Given the description of an element on the screen output the (x, y) to click on. 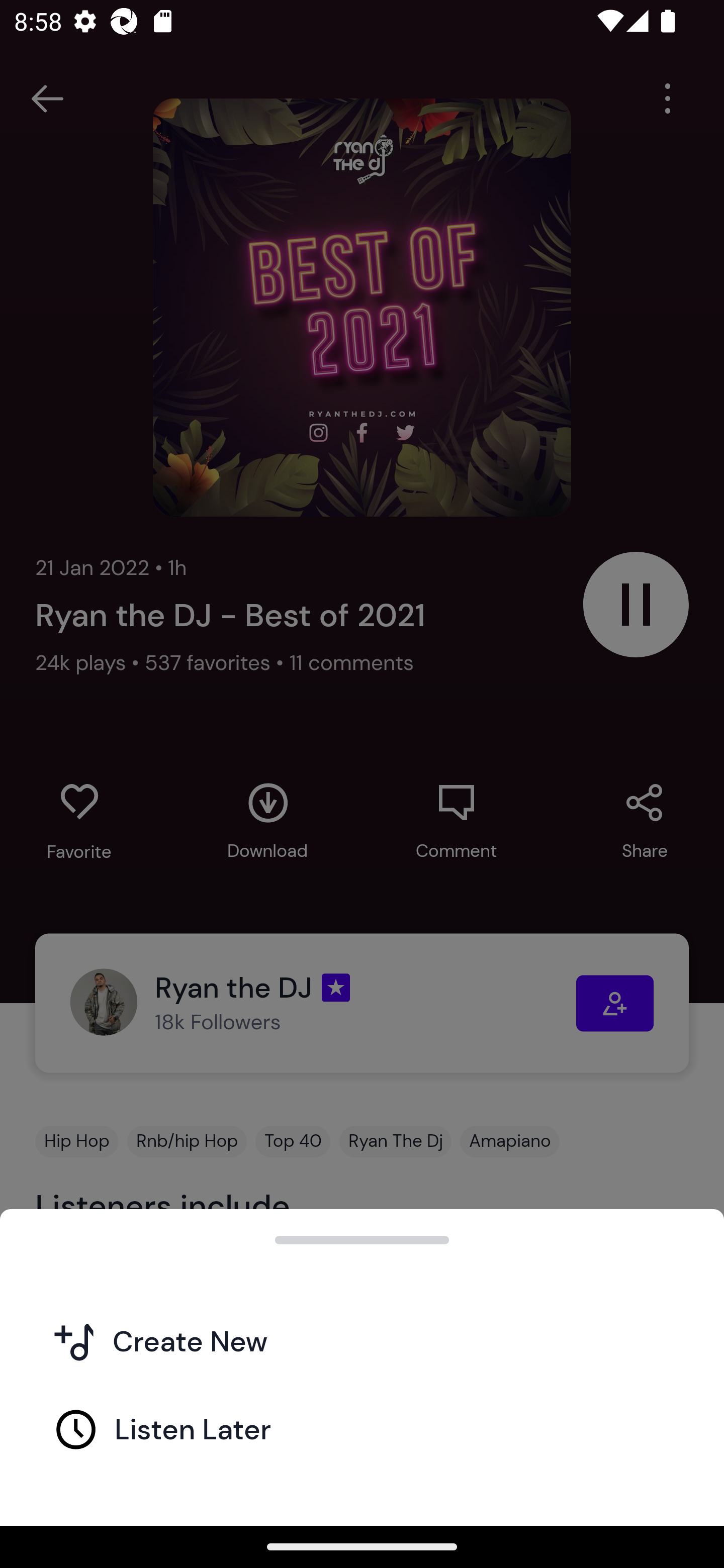
Create New (361, 1340)
Listen Later (361, 1428)
